Given the description of an element on the screen output the (x, y) to click on. 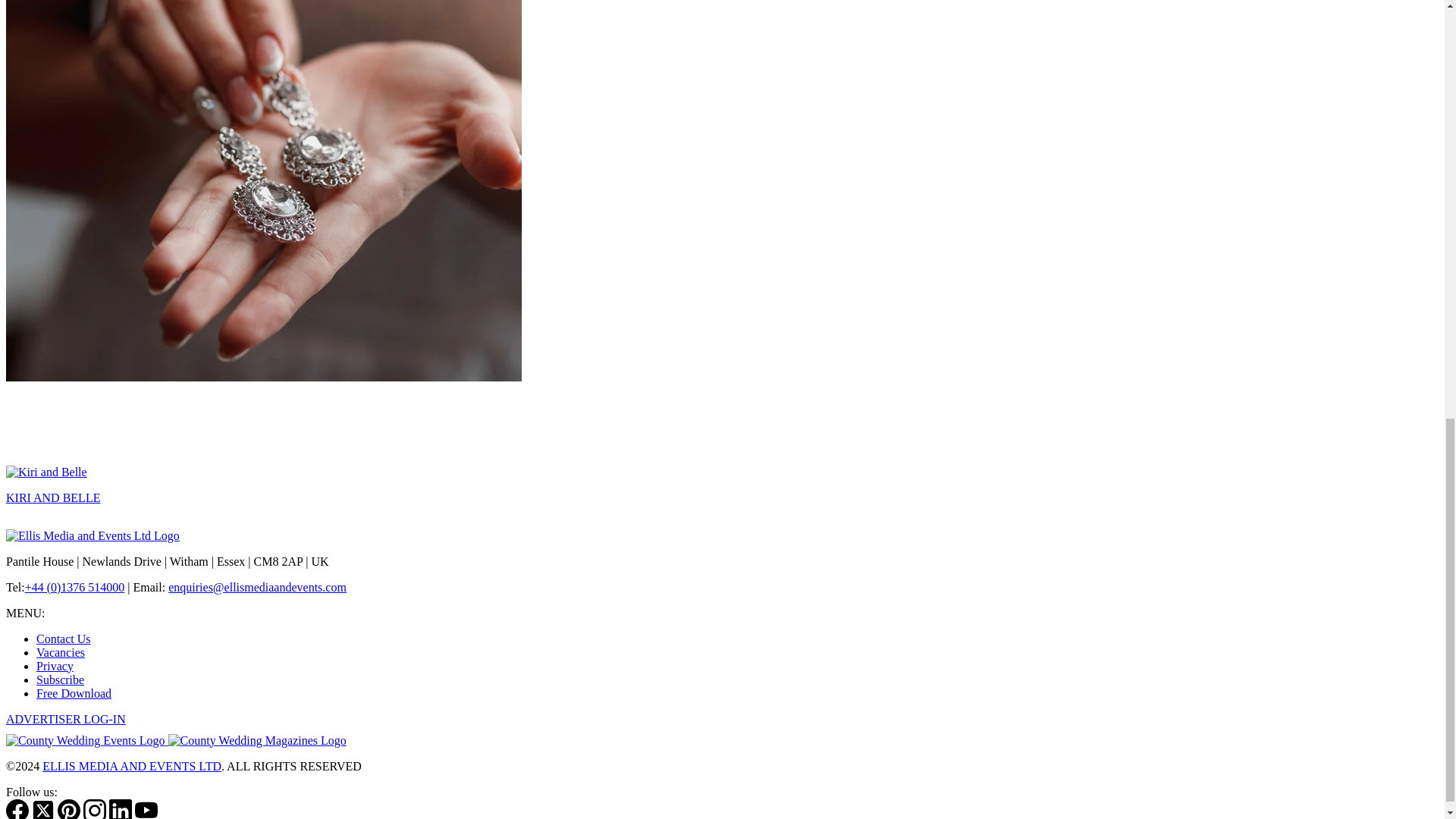
ELLIS MEDIA AND EVENTS LTD (131, 766)
Email Ellis Media and Events Ltd (257, 586)
Privacy (55, 666)
Visit the Ellis Media and Events Ltd website (92, 535)
Contact the team at Ellis Media and Events Ltd (63, 638)
Job vacancies with Ellis Media and Events Ltd (60, 652)
Free Download (74, 693)
See the Kiri and Belle profile (52, 497)
KIRI AND BELLE (52, 497)
Vacancies (60, 652)
